Given the description of an element on the screen output the (x, y) to click on. 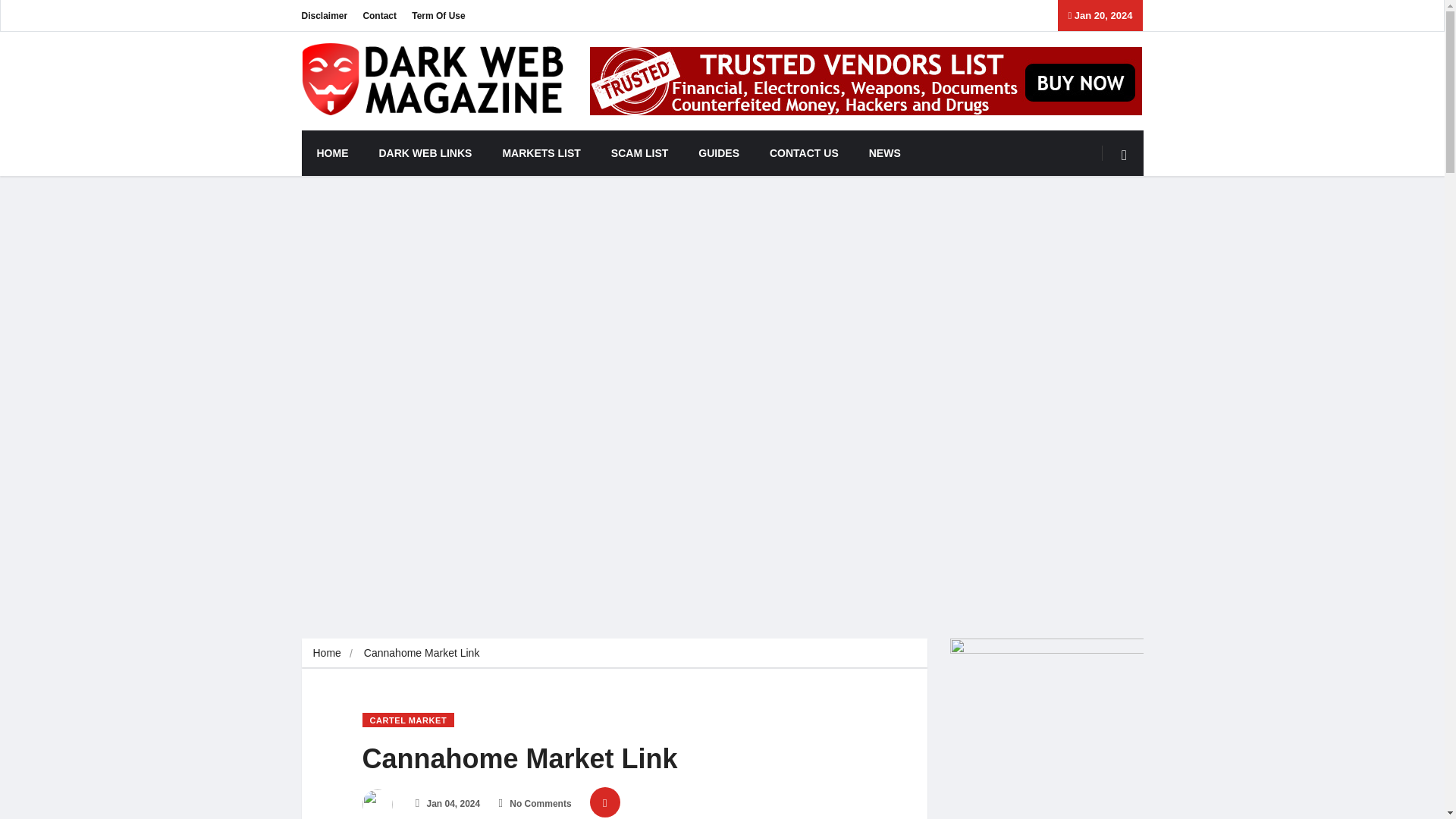
SCAM LIST (638, 153)
DARK WEB LINKS (425, 153)
Contact (379, 15)
Disclaimer (324, 15)
HOME (332, 153)
GUIDES (718, 153)
NEWS (884, 153)
Home (326, 653)
CARTEL MARKET (408, 719)
CONTACT US (803, 153)
